Given the description of an element on the screen output the (x, y) to click on. 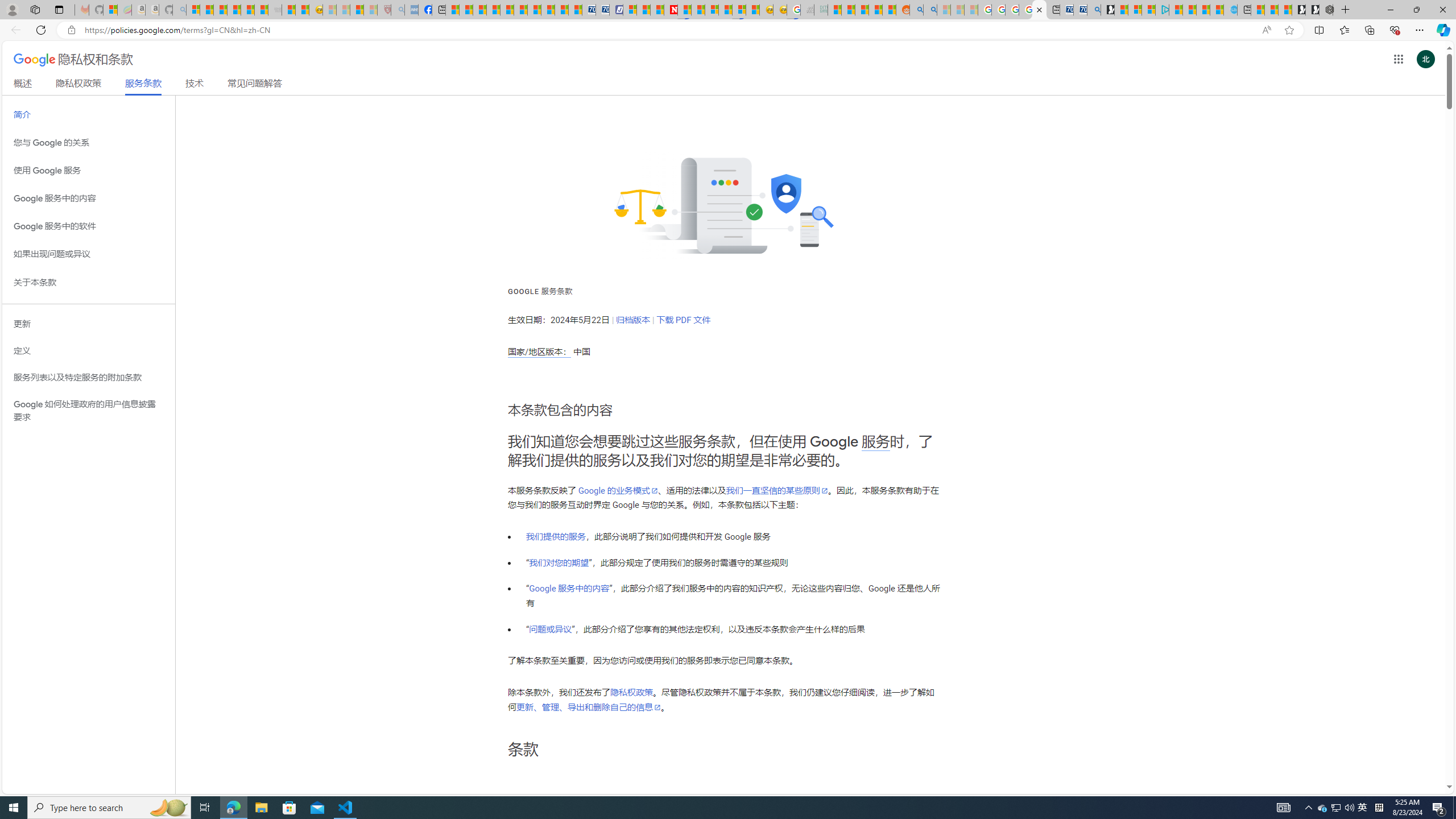
The Weather Channel - MSN (219, 9)
DITOGAMES AG Imprint - Sleeping (820, 9)
Student Loan Update: Forgiveness Program Ends This Month (874, 9)
